Given the description of an element on the screen output the (x, y) to click on. 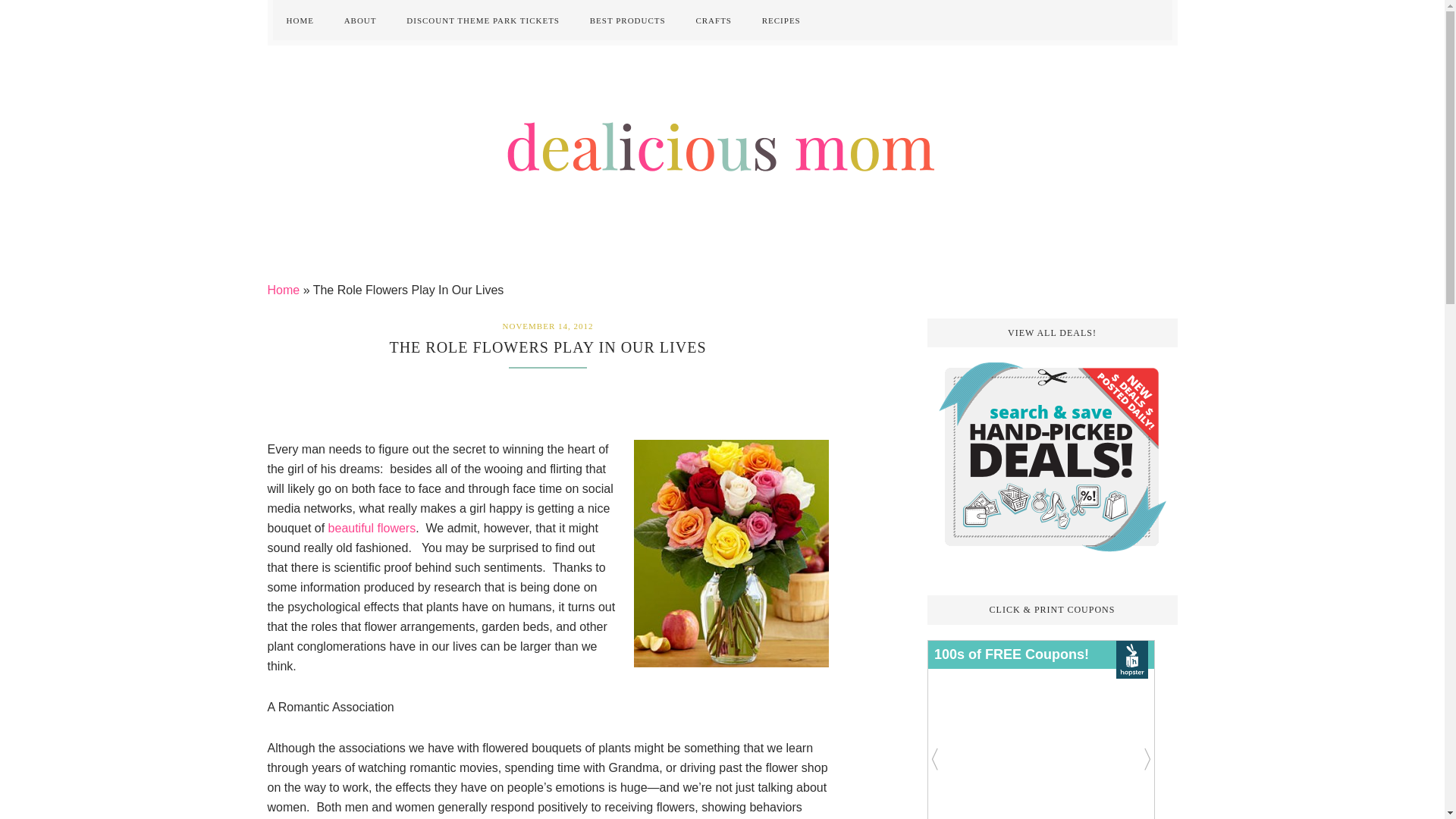
DISCOUNT THEME PARK TICKETS (483, 20)
Home (282, 289)
"DEAL"ICIOUS MOM (722, 143)
beautiful flowers (372, 527)
HOME (300, 20)
BEST PRODUCTS (627, 20)
ABOUT (360, 20)
RECIPES (780, 20)
CRAFTS (713, 20)
